Given the description of an element on the screen output the (x, y) to click on. 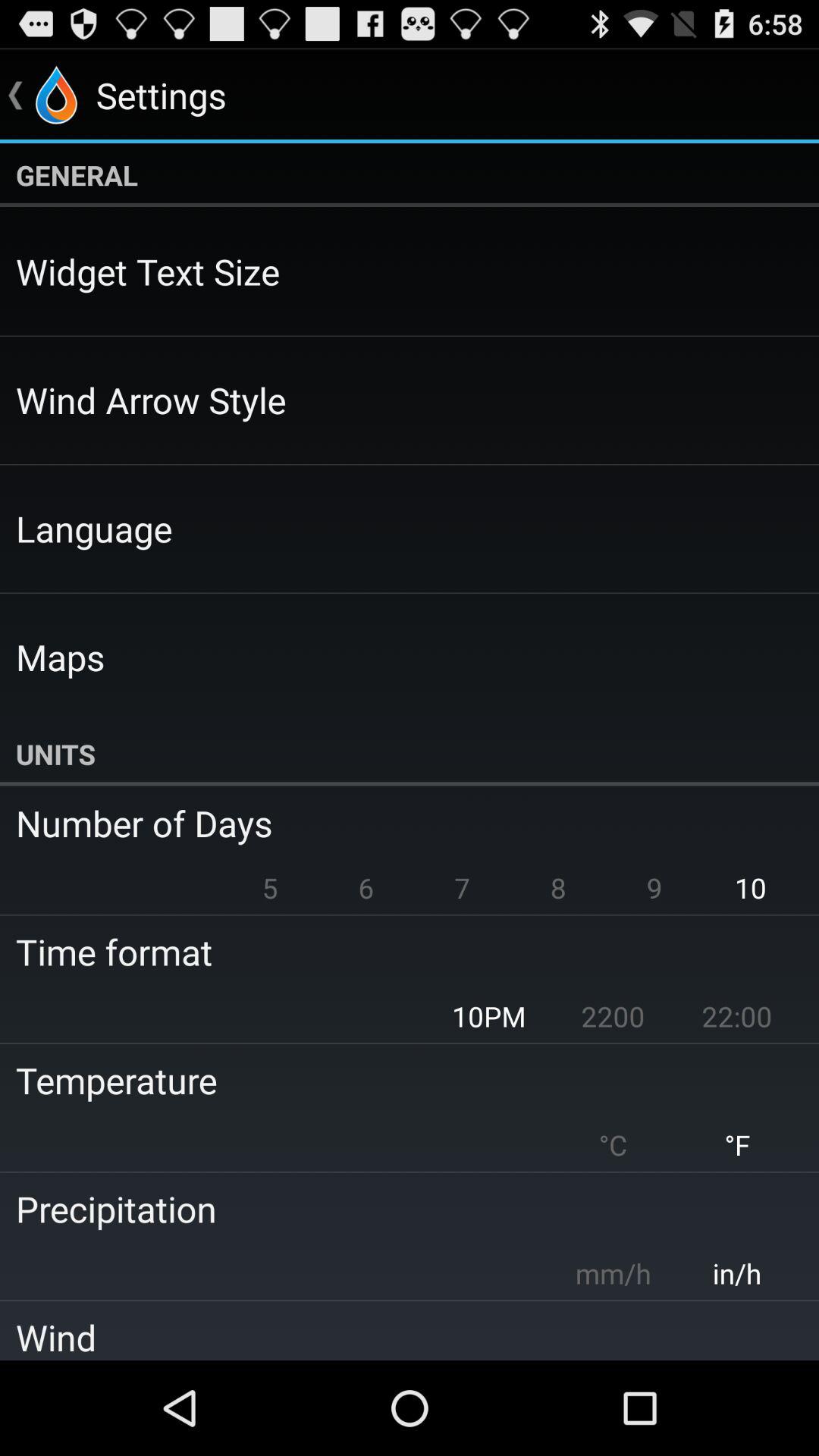
scroll until 5 icon (270, 887)
